Given the description of an element on the screen output the (x, y) to click on. 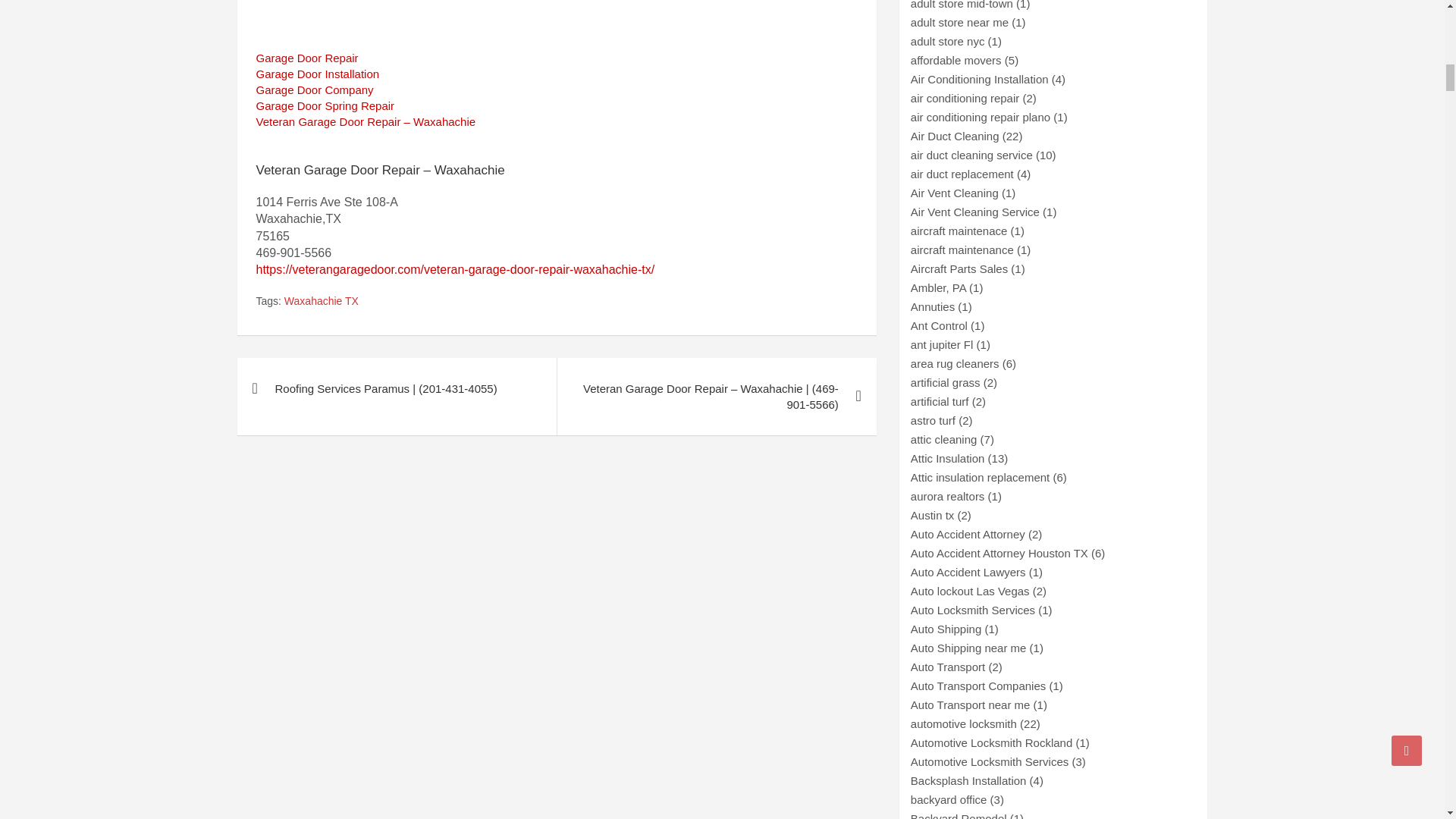
Garage Door Repair (307, 57)
Waxahachie TX (320, 301)
Garage Door Installation (318, 73)
Garage Door Spring Repair (325, 105)
Garage Door Company (315, 89)
